Given the description of an element on the screen output the (x, y) to click on. 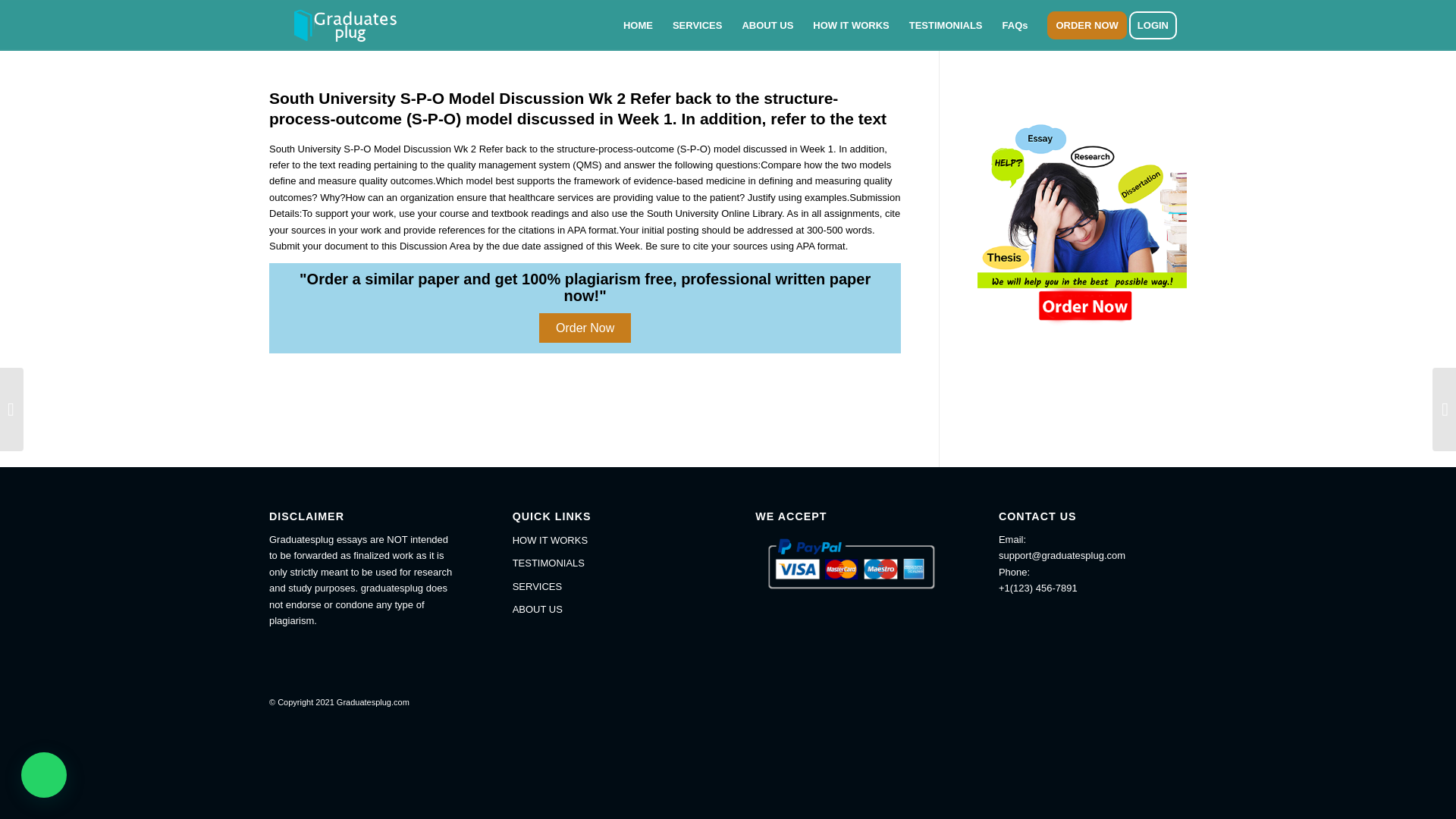
HOW IT WORKS (850, 24)
HOW IT WORKS (606, 540)
TESTIMONIALS (945, 24)
SERVICES (697, 24)
FAQs (1015, 24)
ORDER NOW (1085, 24)
LOGIN (1157, 24)
TESTIMONIALS (606, 563)
ABOUT US (606, 609)
ABOUT US (767, 24)
